Given the description of an element on the screen output the (x, y) to click on. 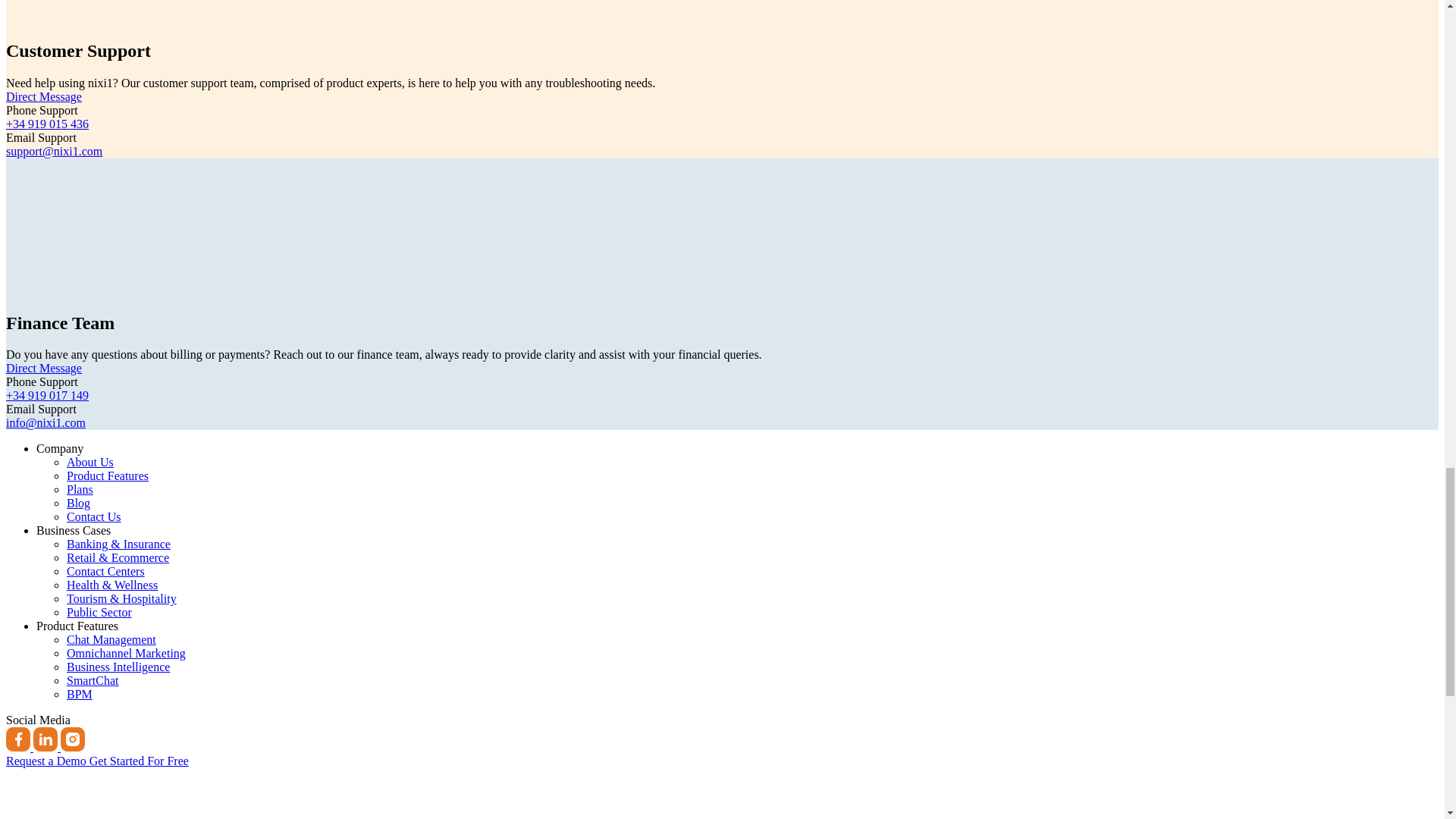
Direct Message (43, 96)
Public Sector (99, 612)
Direct Message (43, 367)
Plans (79, 489)
About Us (89, 461)
Blog (78, 502)
Business Cases (73, 530)
Contact Centers (105, 571)
Product Features (107, 475)
Company (59, 448)
Product Features (76, 625)
Contact Us (93, 516)
